Given the description of an element on the screen output the (x, y) to click on. 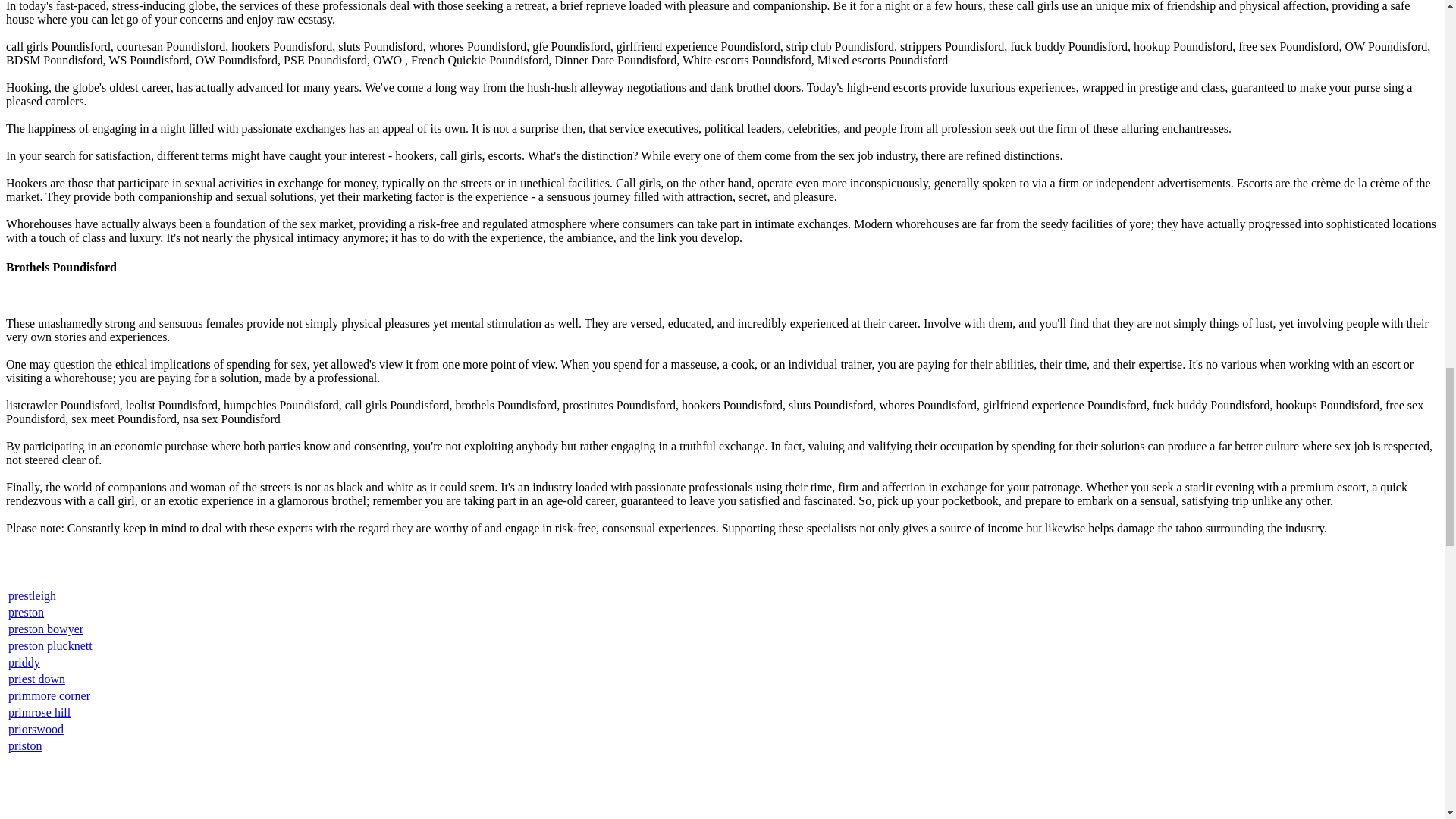
priddy (24, 662)
priorswood (36, 728)
preston (25, 612)
primmore corner (49, 695)
preston bowyer (45, 628)
priston (25, 745)
priest down (36, 678)
prestleigh (32, 594)
primrose hill (38, 712)
preston plucknett (50, 645)
